Given the description of an element on the screen output the (x, y) to click on. 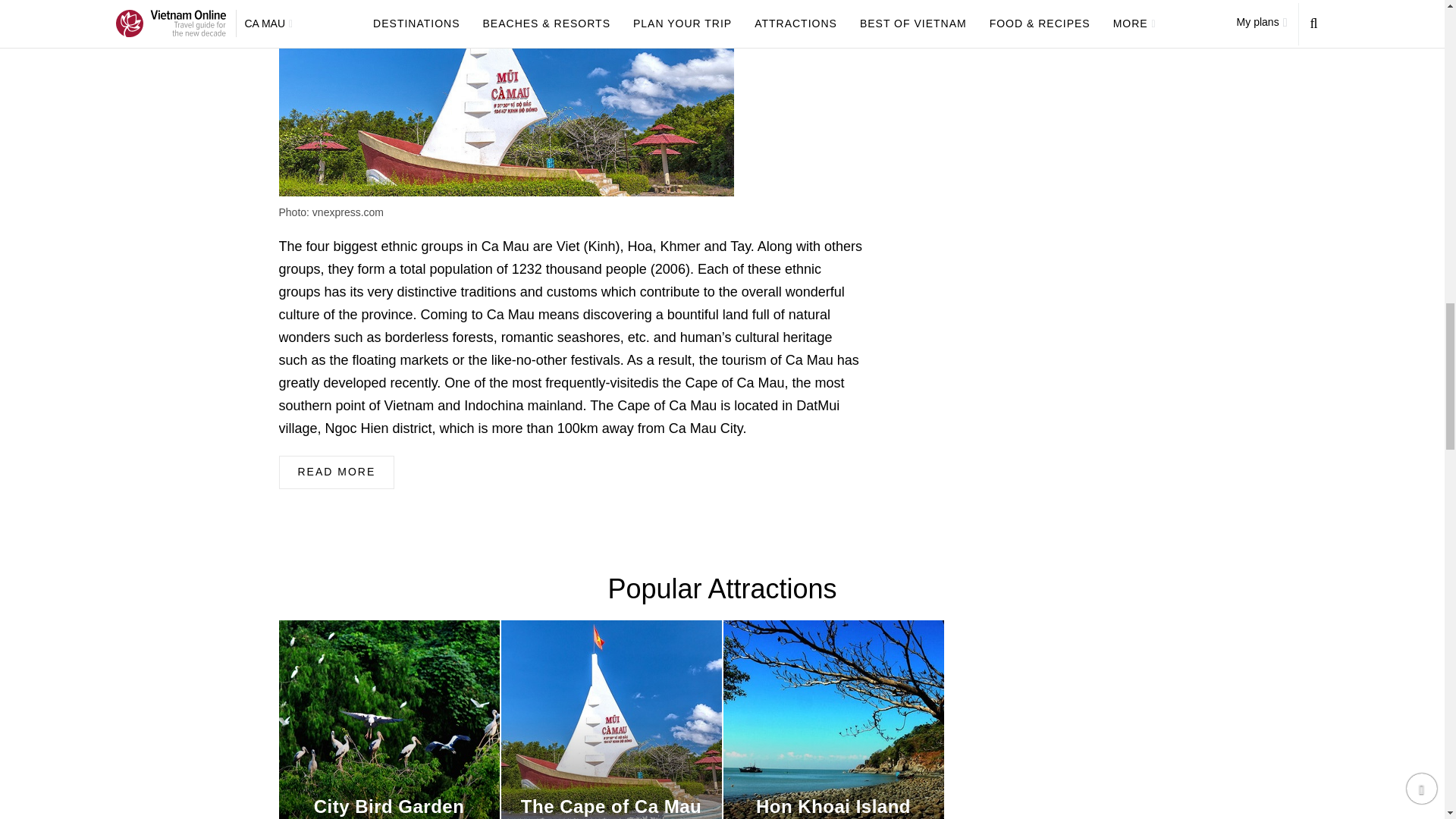
City Bird Garden (389, 719)
The Cape of Ca Mau (610, 719)
Hon Khoai Island (833, 719)
